Given the description of an element on the screen output the (x, y) to click on. 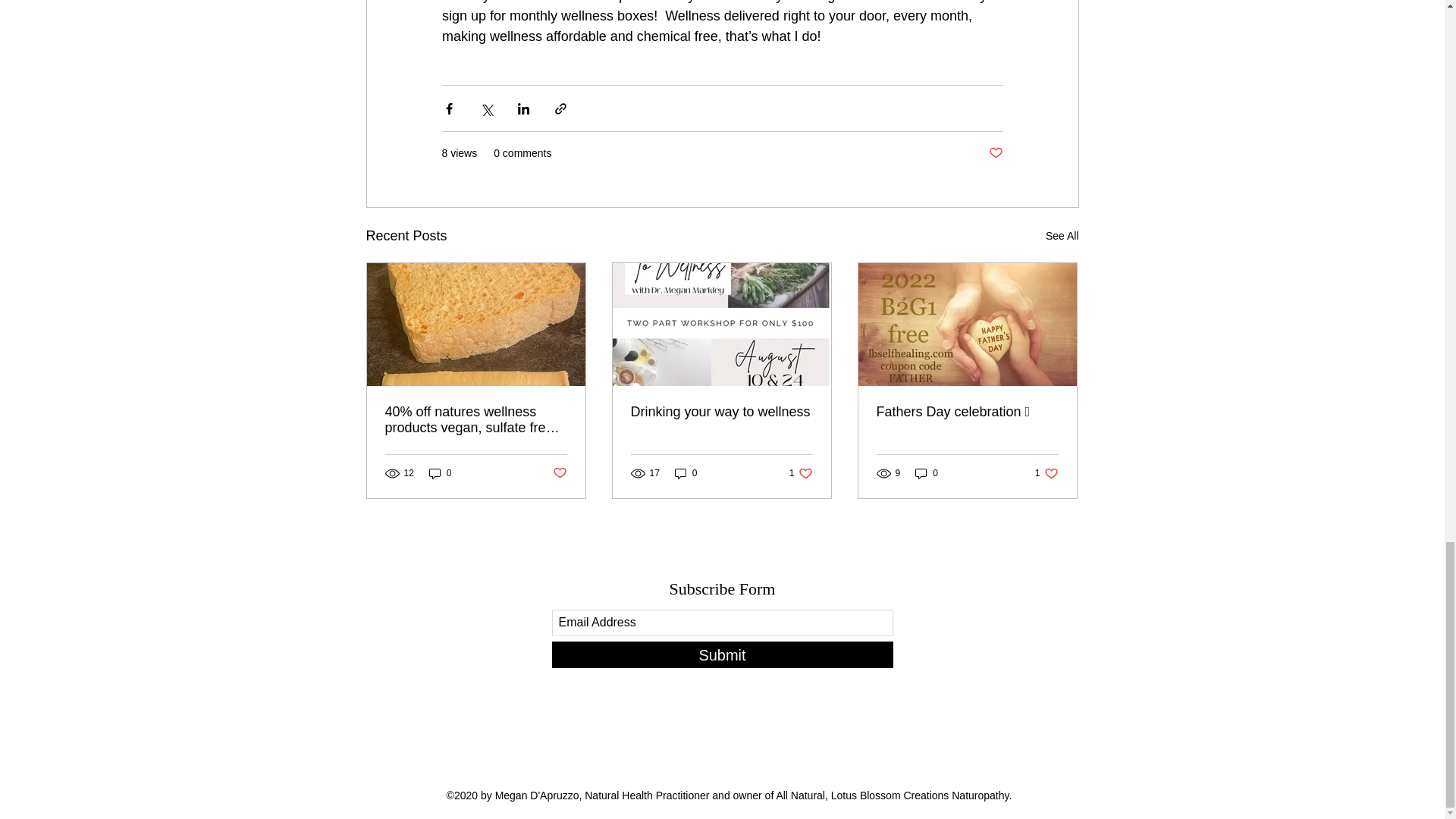
Submit (722, 654)
Drinking your way to wellness (721, 412)
0 (685, 473)
Post not marked as liked (995, 153)
0 (926, 473)
See All (1061, 236)
Post not marked as liked (800, 473)
0 (1046, 473)
